Given the description of an element on the screen output the (x, y) to click on. 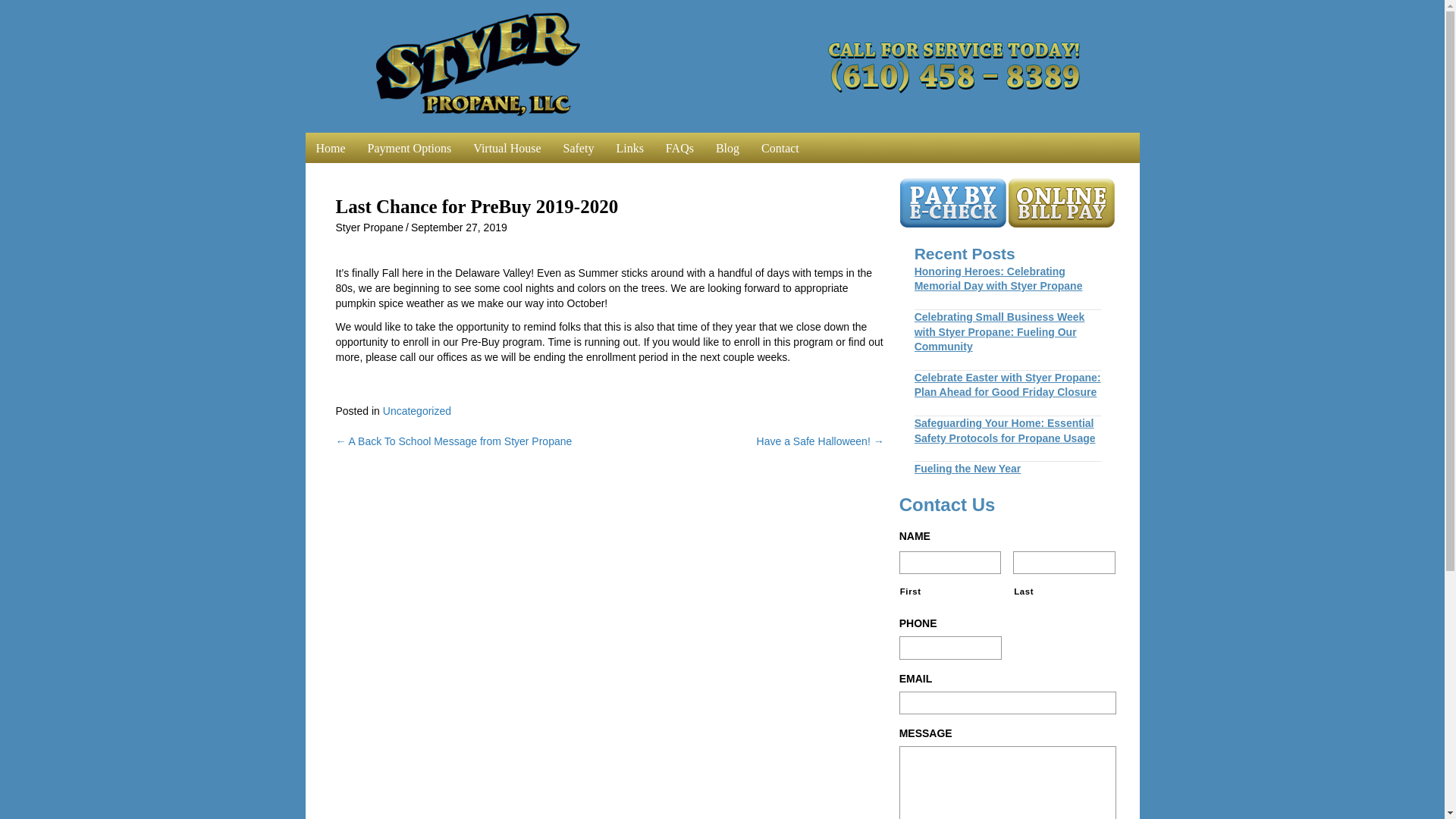
Honoring Heroes: Celebrating Memorial Day with Styer Propane (998, 278)
Fueling the New Year (968, 468)
Uncategorized (416, 410)
FAQs (679, 147)
Honoring Heroes: Celebrating Memorial Day with Styer Propane (998, 278)
Virtual House (507, 147)
Payment Options (409, 147)
Contact (780, 147)
ECheck (952, 201)
